Given the description of an element on the screen output the (x, y) to click on. 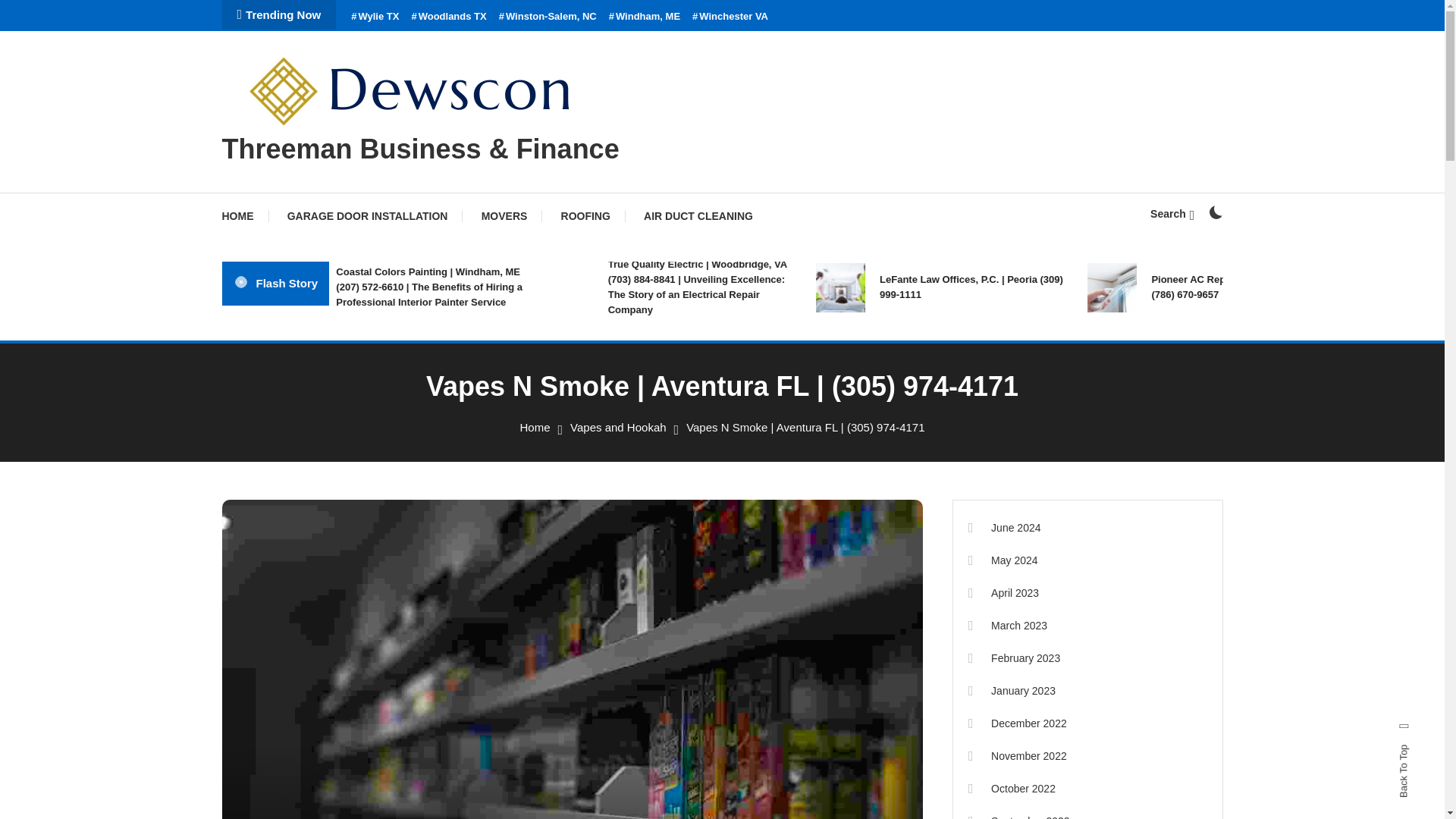
HOME (244, 216)
AIR DUCT CLEANING (698, 216)
on (1215, 212)
Windham, ME (643, 16)
Woodlands TX (448, 16)
Search (768, 434)
MOVERS (504, 216)
Wylie TX (374, 16)
Winchester VA (730, 16)
ROOFING (586, 216)
GARAGE DOOR INSTALLATION (367, 216)
Winston-Salem, NC (547, 16)
Vapes and Hookah (617, 427)
Home (534, 427)
Search (1171, 214)
